Given the description of an element on the screen output the (x, y) to click on. 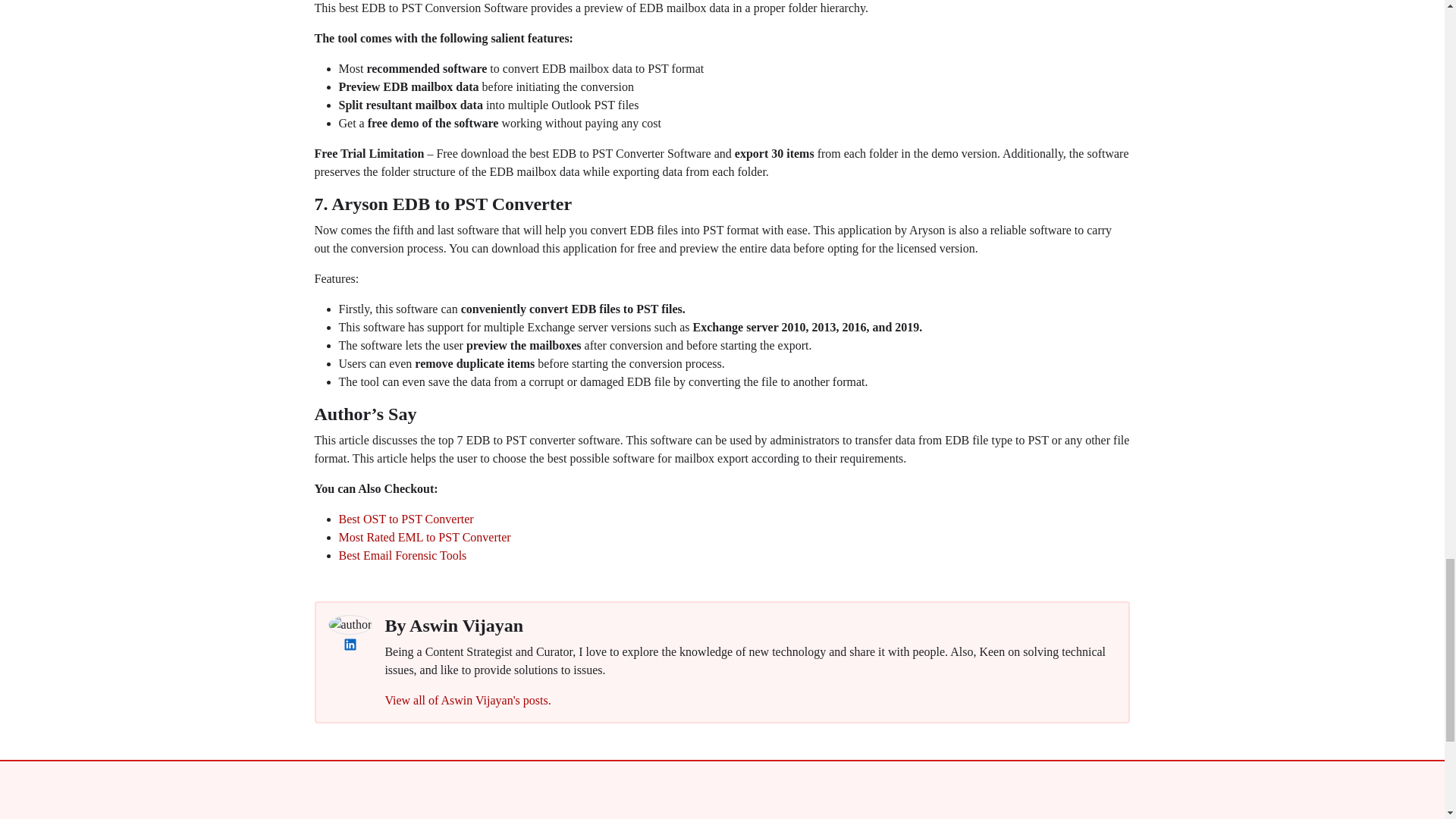
Most Rated EML to PST Converter (424, 536)
Best OST to PST Converter (405, 518)
View all of Aswin Vijayan's posts. (467, 699)
Best Email Forensic Tools (401, 554)
